Given the description of an element on the screen output the (x, y) to click on. 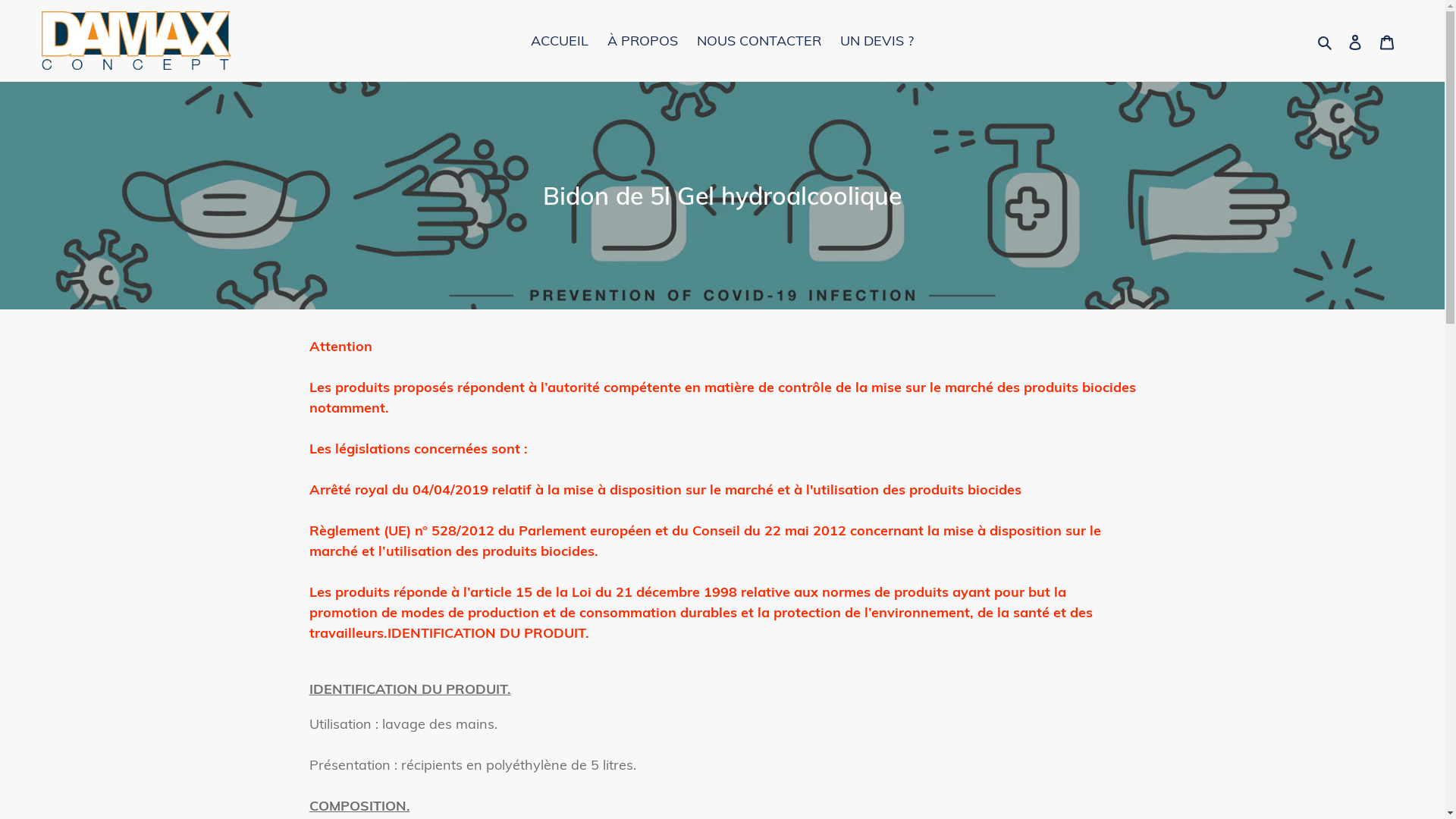
Rechercher Element type: text (1325, 40)
ACCUEIL Element type: text (559, 40)
UN DEVIS ? Element type: text (876, 40)
Se connecter Element type: text (1355, 40)
NOUS CONTACTER Element type: text (758, 40)
Panier Element type: text (1386, 40)
